Given the description of an element on the screen output the (x, y) to click on. 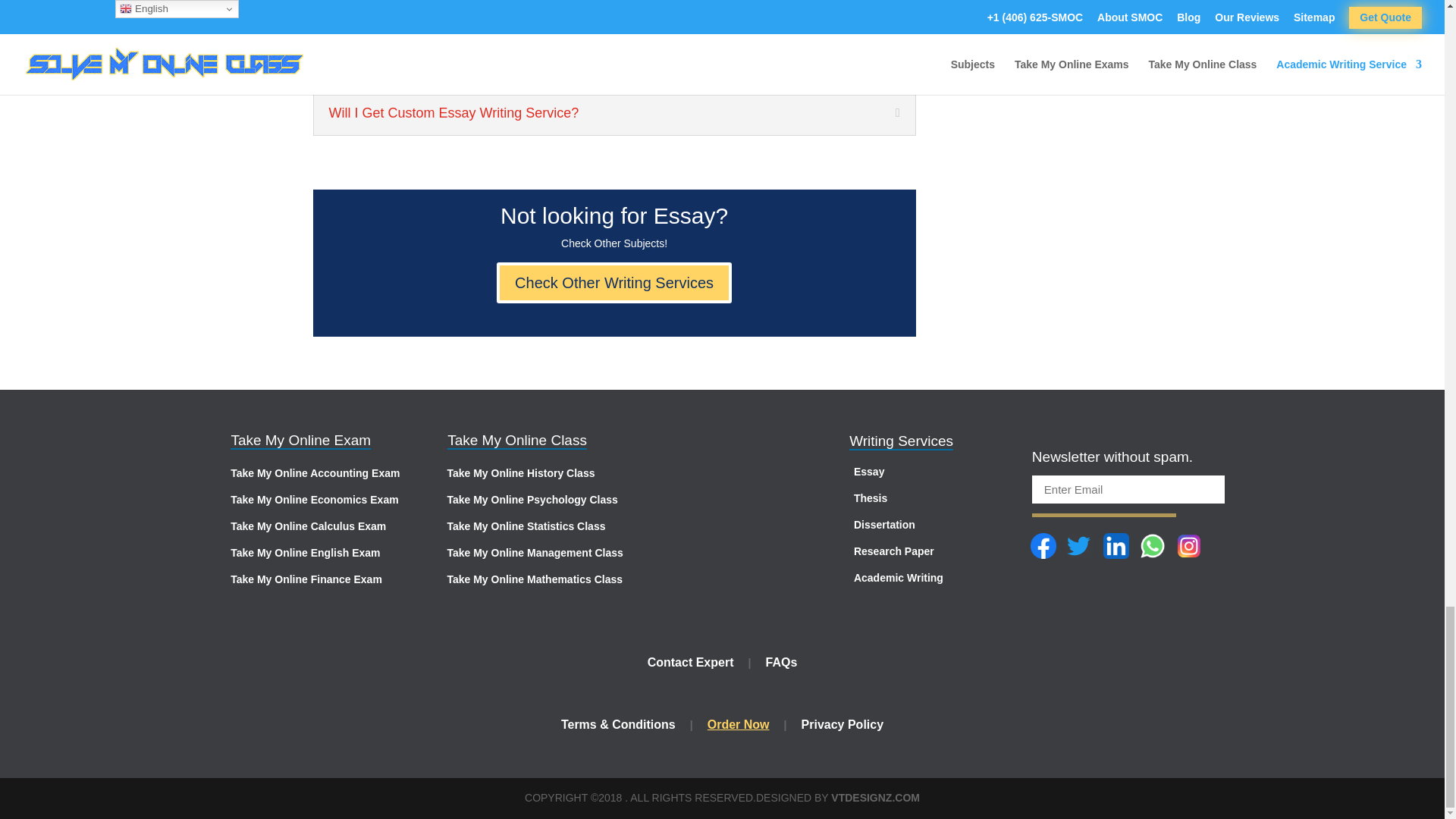
Subscribe Now (1104, 503)
